Given the description of an element on the screen output the (x, y) to click on. 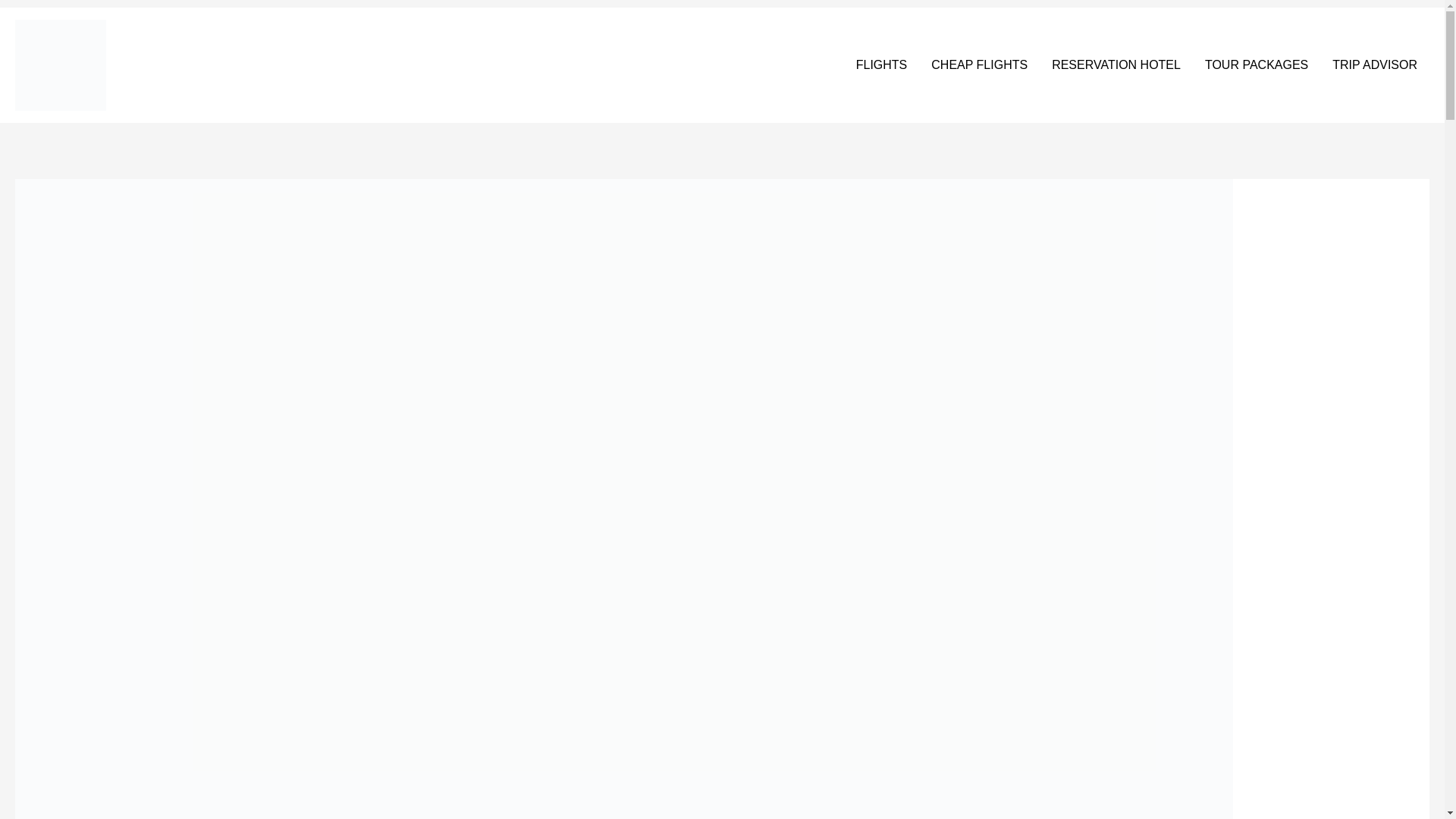
FLIGHTS (882, 65)
CHEAP FLIGHTS (978, 65)
TOUR PACKAGES (1256, 65)
TRIP ADVISOR (1374, 65)
RESERVATION HOTEL (1115, 65)
